Given the description of an element on the screen output the (x, y) to click on. 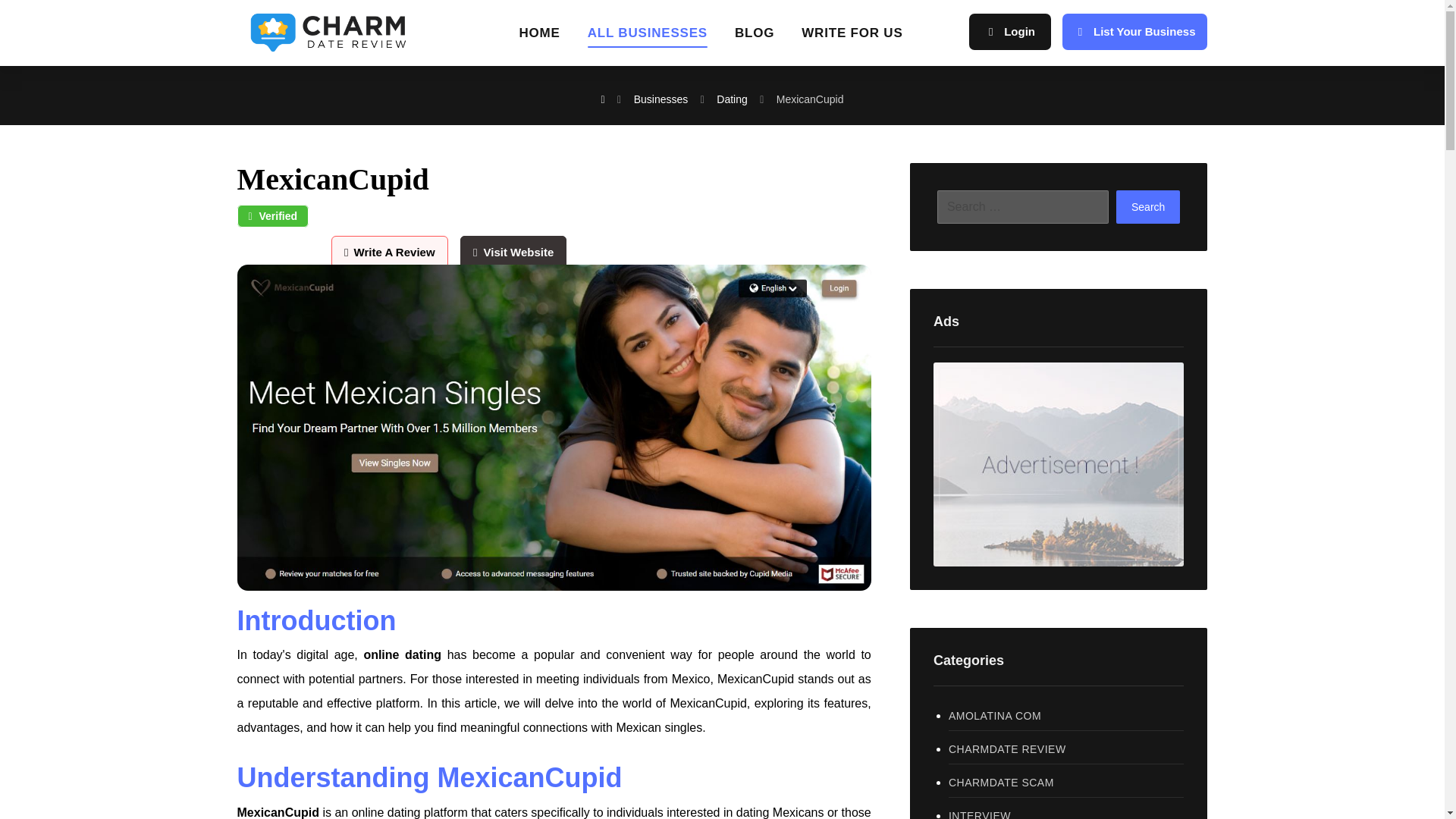
Verified (271, 215)
Write A Review (394, 251)
BLOG (754, 38)
HOME (538, 38)
ALL BUSINESSES (647, 38)
Login (1010, 31)
Best Charm Date Review Website (332, 30)
CHARMDATE REVIEW (1066, 749)
WRITE FOR US (852, 38)
Visit Website (513, 251)
MexicanCupid (276, 812)
INTERVIEW (1066, 810)
List Your Business (1134, 31)
CHARMDATE SCAM (1066, 782)
MexicanCupid (810, 99)
